Given the description of an element on the screen output the (x, y) to click on. 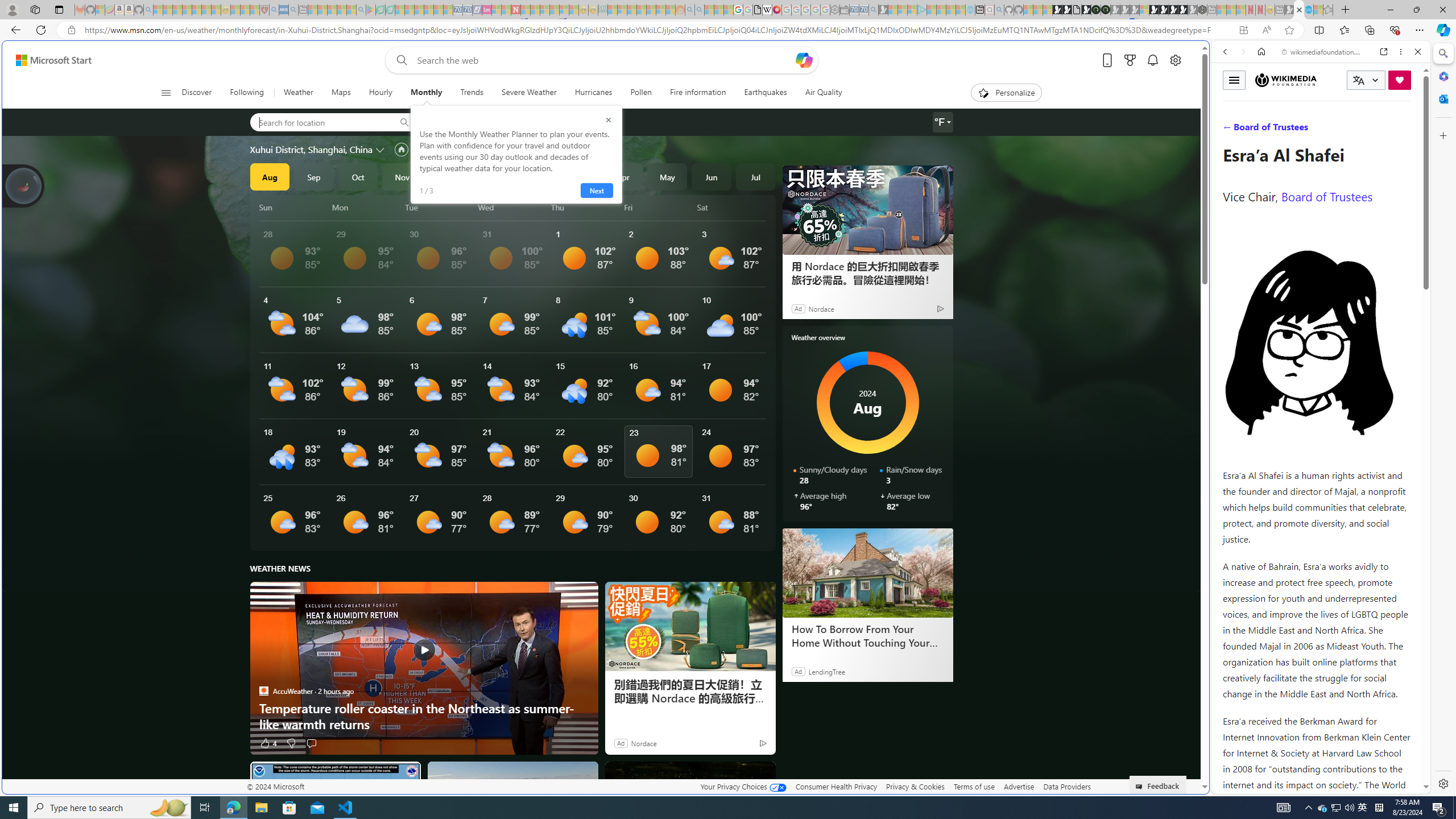
Remove location (531, 122)
Search Filter, WEB (1230, 129)
